Given the description of an element on the screen output the (x, y) to click on. 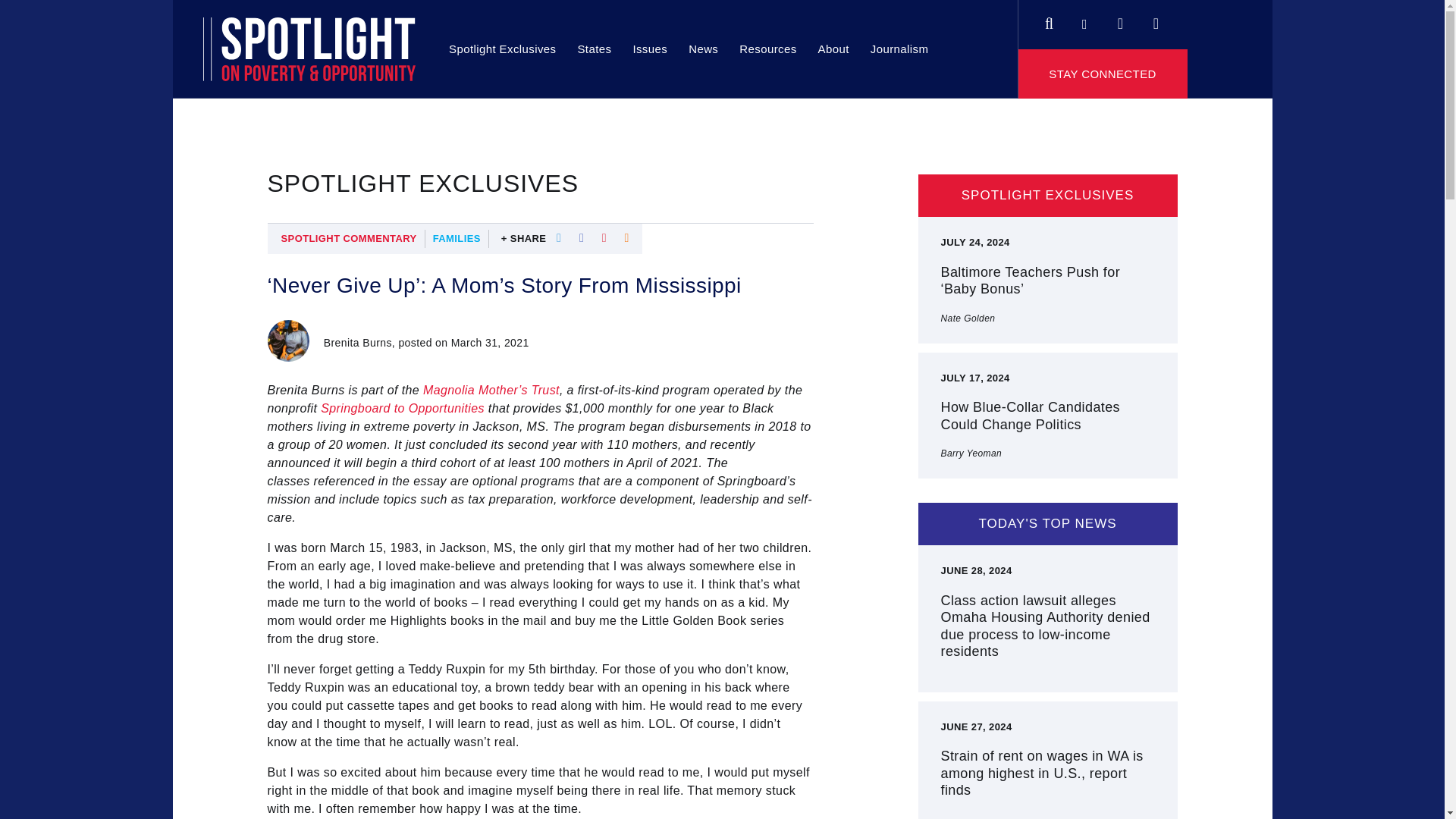
YouTube (1156, 15)
Follow us on Twitter (1119, 15)
Watch us on YouTube (1156, 15)
Facebook (1084, 15)
Join us on Facebook (1084, 15)
SPOTLIGHT COMMENTARY (349, 239)
FAMILIES (457, 239)
STAY CONNECTED (1102, 73)
Spotlight on Poverty and Opportunity (308, 49)
Spotlight Exclusives (502, 49)
Twitter (1119, 15)
